Given the description of an element on the screen output the (x, y) to click on. 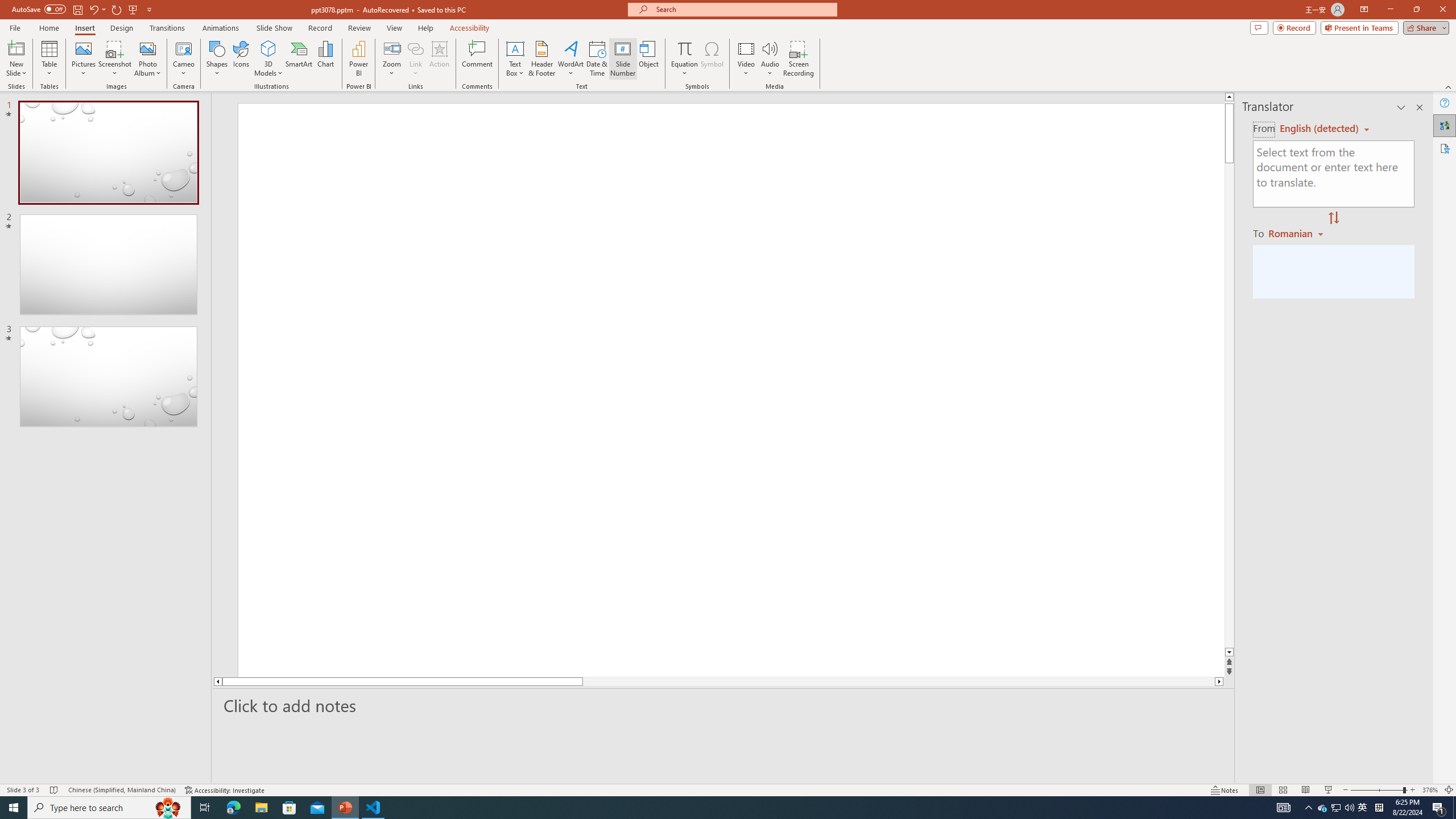
Object... (649, 58)
New Photo Album... (147, 48)
Date & Time... (596, 58)
Slide Number (622, 58)
